Given the description of an element on the screen output the (x, y) to click on. 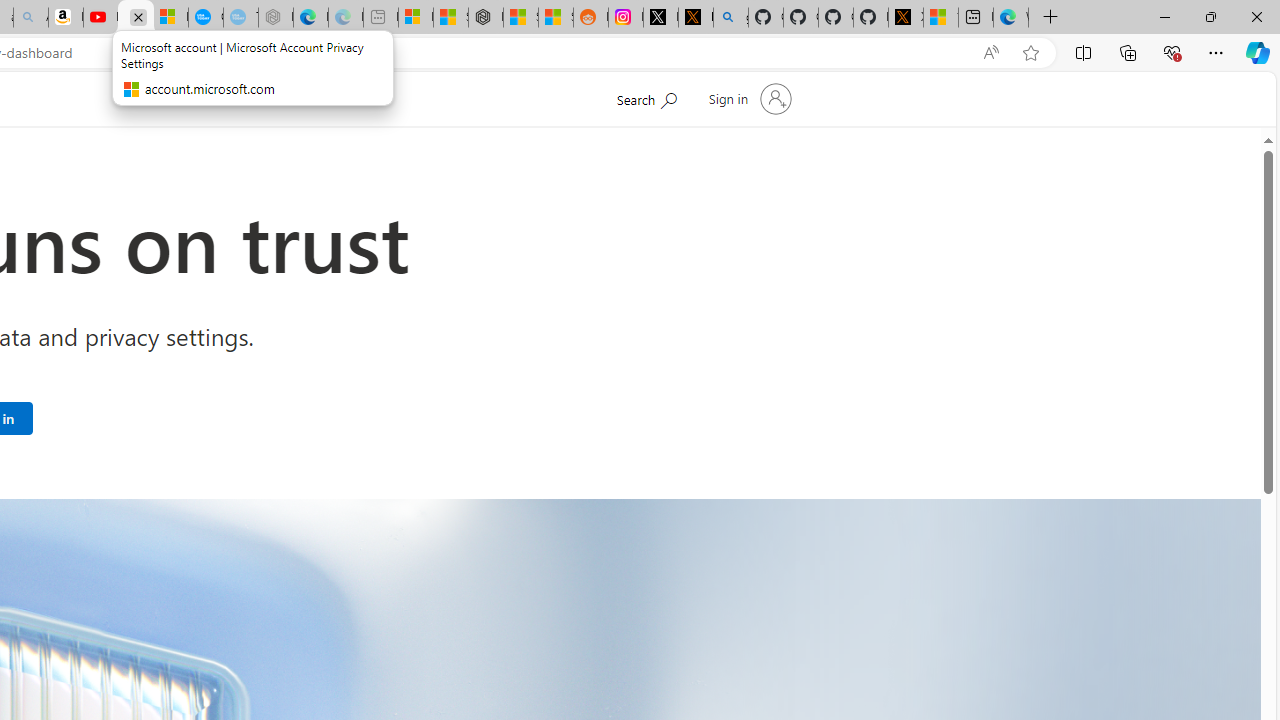
Sign in to your account (748, 98)
X Privacy Policy (905, 17)
Nordace - Nordace has arrived Hong Kong - Sleeping (275, 17)
Amazon Echo Dot PNG - Search Images - Sleeping (31, 17)
github - Search (730, 17)
Day 1: Arriving in Yemen (surreal to be here) - YouTube (100, 17)
Opinion: Op-Ed and Commentary - USA TODAY (205, 17)
